Given the description of an element on the screen output the (x, y) to click on. 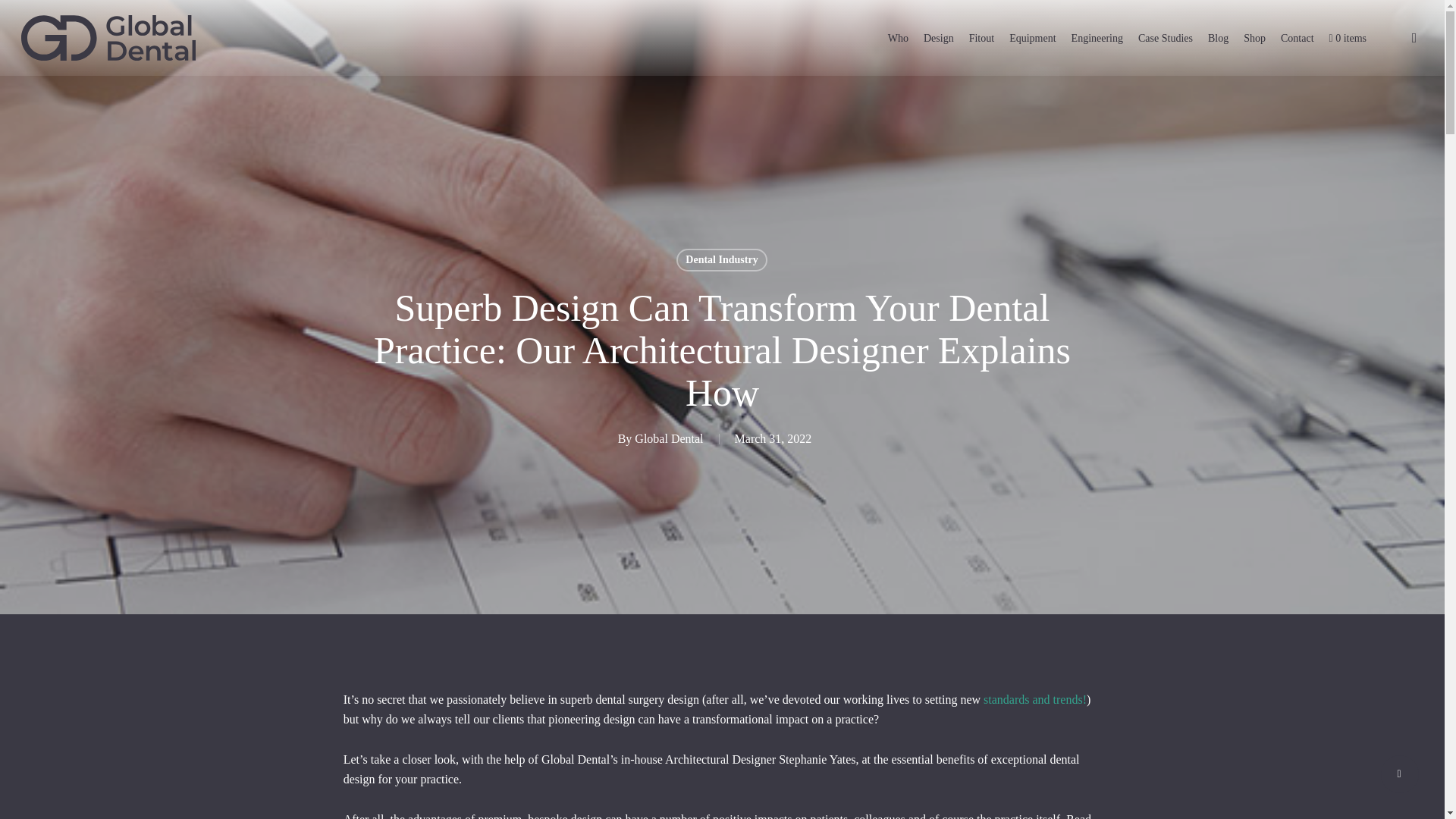
Blog (1217, 37)
Engineering (1097, 37)
Posts by Global Dental (668, 438)
Case Studies (1165, 37)
0 items (1348, 37)
Global Dental (668, 438)
Fitout (980, 37)
Start shopping (1348, 37)
Equipment (1031, 37)
standards and trends! (1035, 698)
Design (937, 37)
Dental Industry (722, 259)
Shop (1254, 37)
Who (897, 37)
Contact (1297, 37)
